Given the description of an element on the screen output the (x, y) to click on. 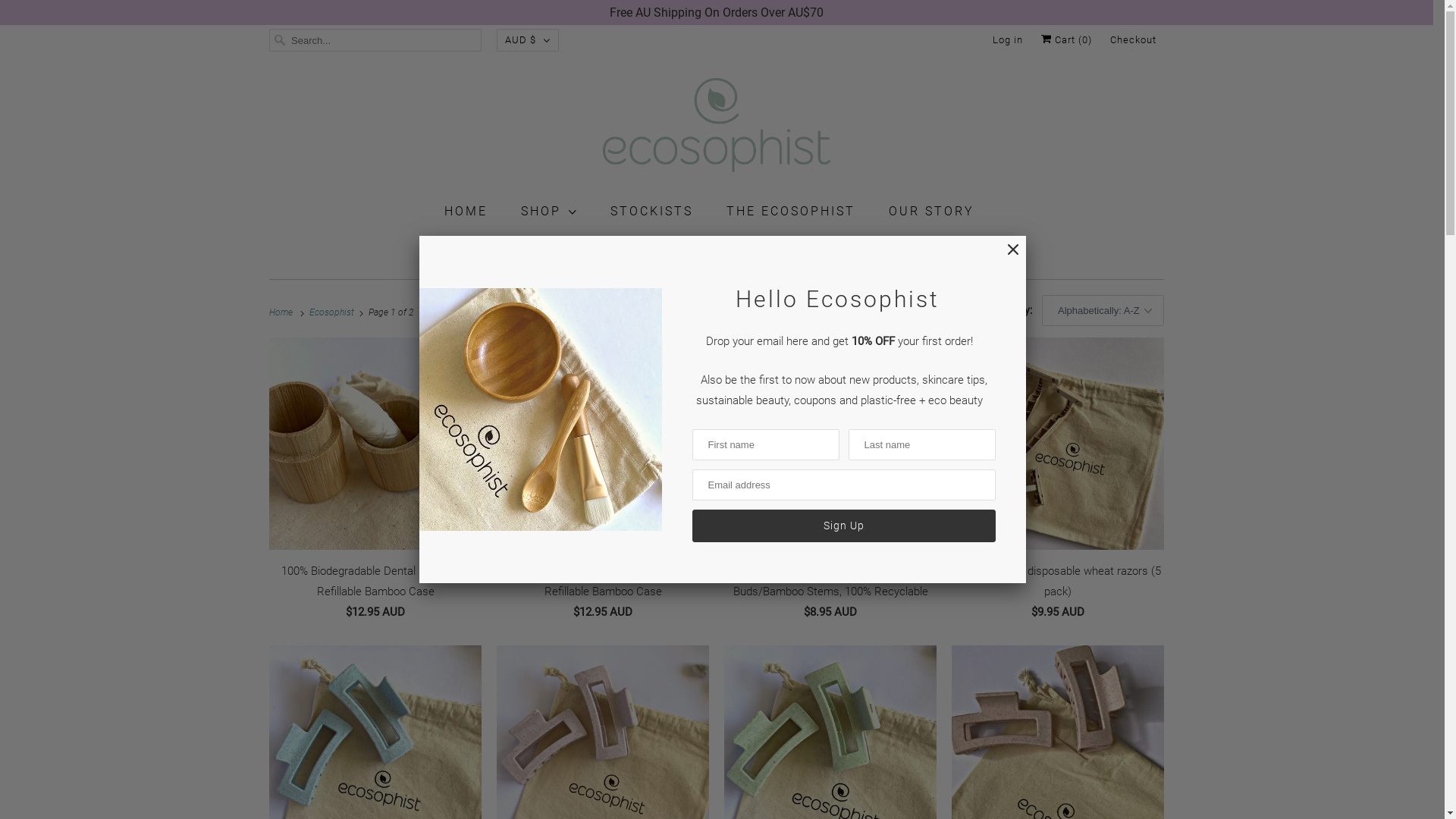
HOME Element type: text (465, 210)
Ecosophist Element type: text (333, 312)
THE ECOSOPHIST Element type: text (790, 210)
SHOP Element type: text (548, 210)
Cart (0) Element type: text (1066, 39)
OUR STORY Element type: text (931, 210)
Ecosophist Element type: text (716, 253)
AUD $ Element type: text (527, 39)
Free AU Shipping On Orders Over AU$70 Element type: text (716, 12)
Log in Element type: text (1007, 39)
Biodegradable disposable wheat razors (5 pack)
$9.95 AUD Element type: text (1057, 482)
Ecosophist Element type: hover (716, 128)
Sign Up Element type: text (842, 525)
Home Element type: text (283, 312)
Checkout Element type: text (1133, 39)
STOCKISTS Element type: text (650, 210)
Close Element type: hover (1004, 257)
